Given the description of an element on the screen output the (x, y) to click on. 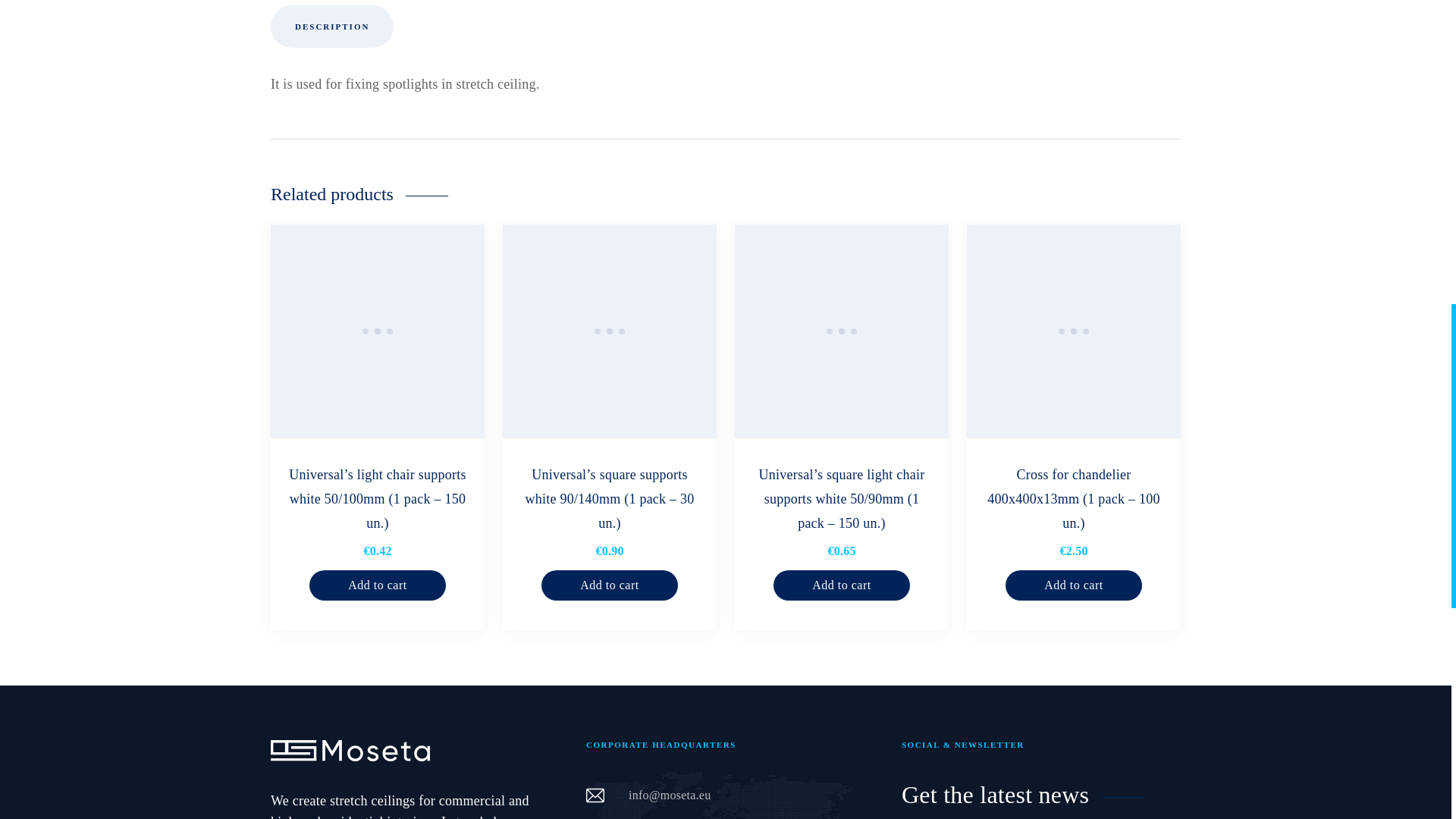
Moseta (349, 750)
